Given the description of an element on the screen output the (x, y) to click on. 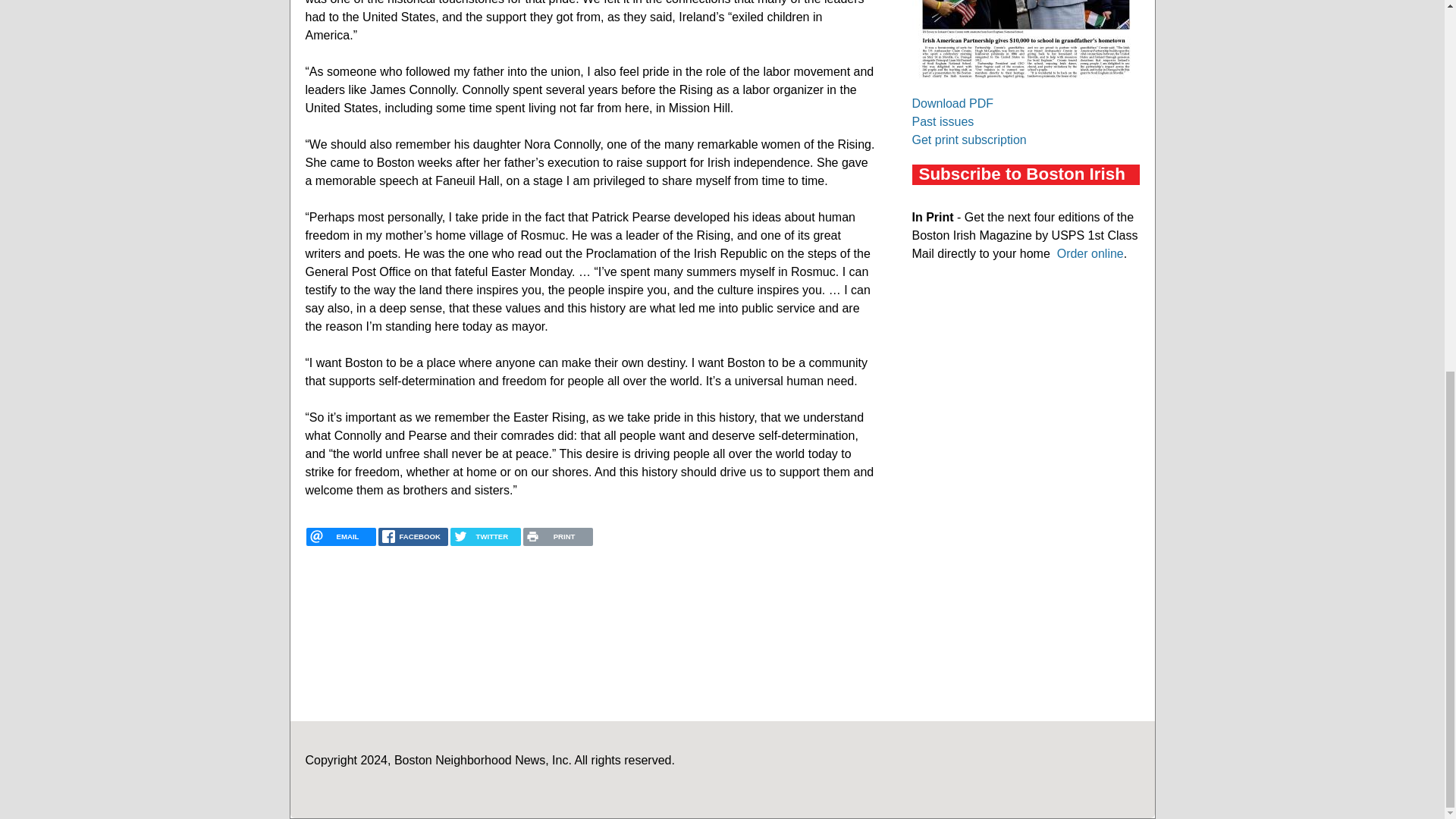
3rd party ad content (1024, 391)
Past issues (942, 121)
Download PDF (951, 103)
FACEBOOK (413, 536)
Get print subscription (968, 139)
3rd party ad content (1025, 596)
Order online (1090, 253)
PRINT (557, 536)
EMAIL (340, 536)
TWITTER (484, 536)
